Given the description of an element on the screen output the (x, y) to click on. 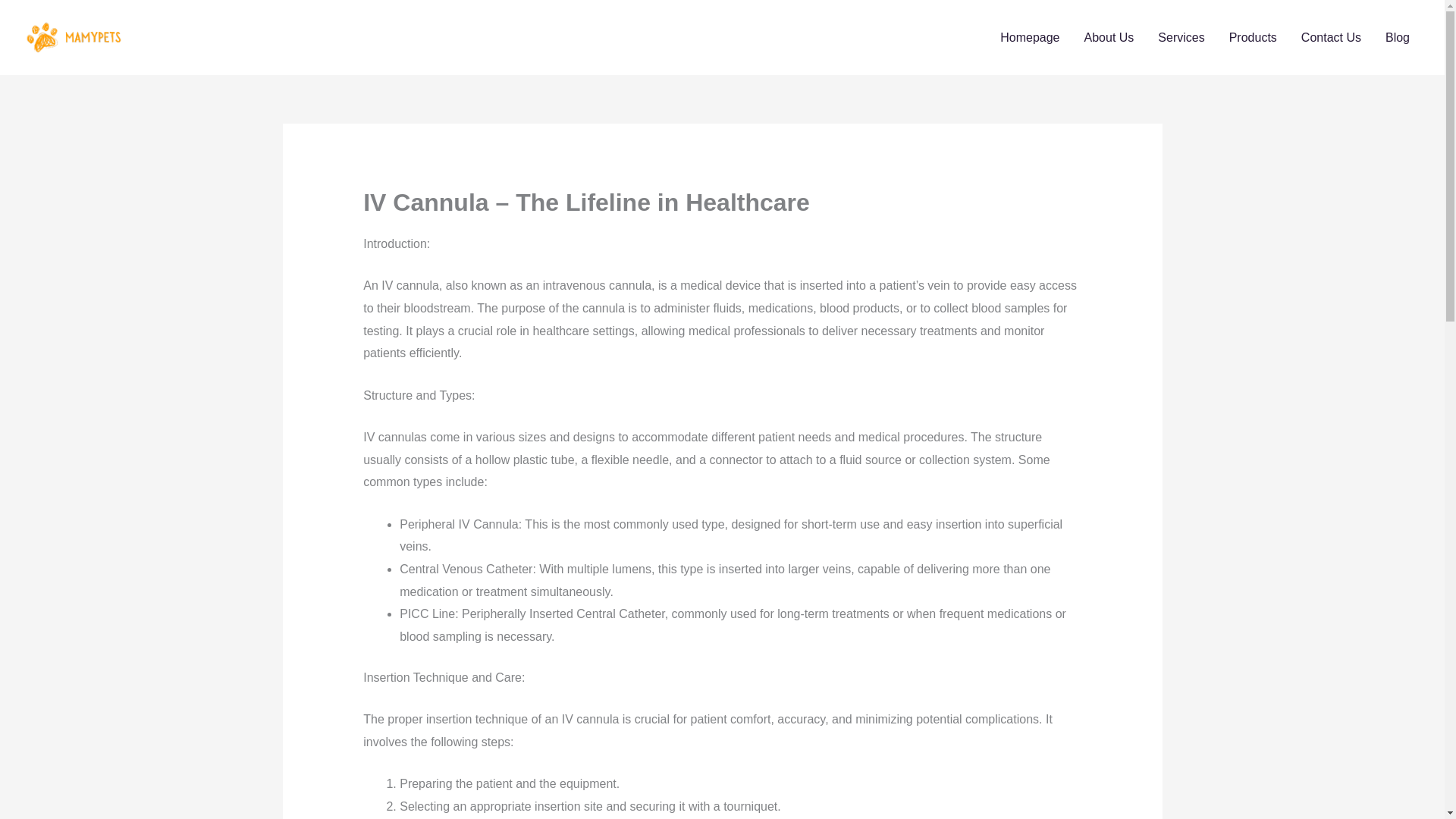
Services (1180, 36)
About Us (1109, 36)
Homepage (1029, 36)
Blog (1397, 36)
Contact Us (1330, 36)
Products (1252, 36)
